Given the description of an element on the screen output the (x, y) to click on. 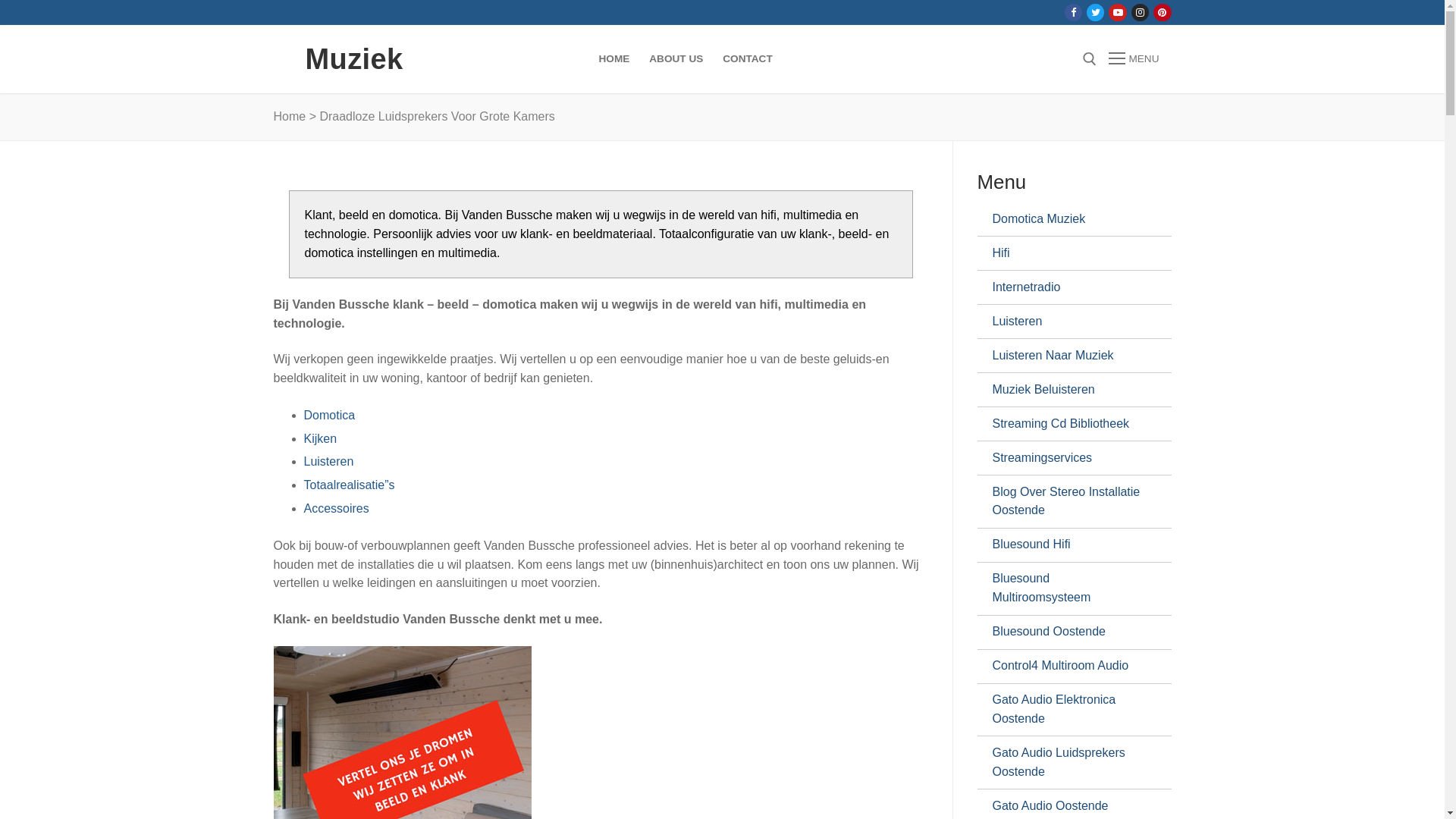
Instagram Element type: hover (1140, 12)
Pinterest Element type: hover (1162, 12)
Luisteren Naar Muziek Element type: text (1067, 355)
Internetradio Element type: text (1067, 287)
Youtube Element type: hover (1118, 12)
Streamingservices Element type: text (1067, 457)
ABOUT US Element type: text (675, 58)
Hifi Element type: text (1067, 252)
CONTACT Element type: text (746, 58)
Luisteren Element type: text (328, 461)
Muziek Element type: text (353, 58)
Kijken Element type: text (319, 438)
Naar de inhoud springen Element type: text (0, 0)
Gato Audio Elektronica Oostende Element type: text (1067, 710)
Domotica Element type: text (328, 414)
Twitter Element type: hover (1095, 12)
Bluesound Oostende Element type: text (1067, 632)
MENU Element type: text (1133, 59)
Muziek Beluisteren Element type: text (1067, 389)
Control4 Multiroom Audio Element type: text (1067, 666)
Streaming Cd Bibliotheek Element type: text (1067, 423)
Bluesound Multiroomsysteem Element type: text (1067, 588)
Luisteren Element type: text (1067, 321)
Blog Over Stereo Installatie Oostende Element type: text (1067, 501)
HOME Element type: text (613, 58)
Gato Audio Luidsprekers Oostende Element type: text (1067, 762)
Accessoires Element type: text (335, 508)
Bluesound Hifi Element type: text (1067, 544)
Domotica Muziek Element type: text (1067, 218)
Facebook Element type: hover (1073, 12)
